Given the description of an element on the screen output the (x, y) to click on. 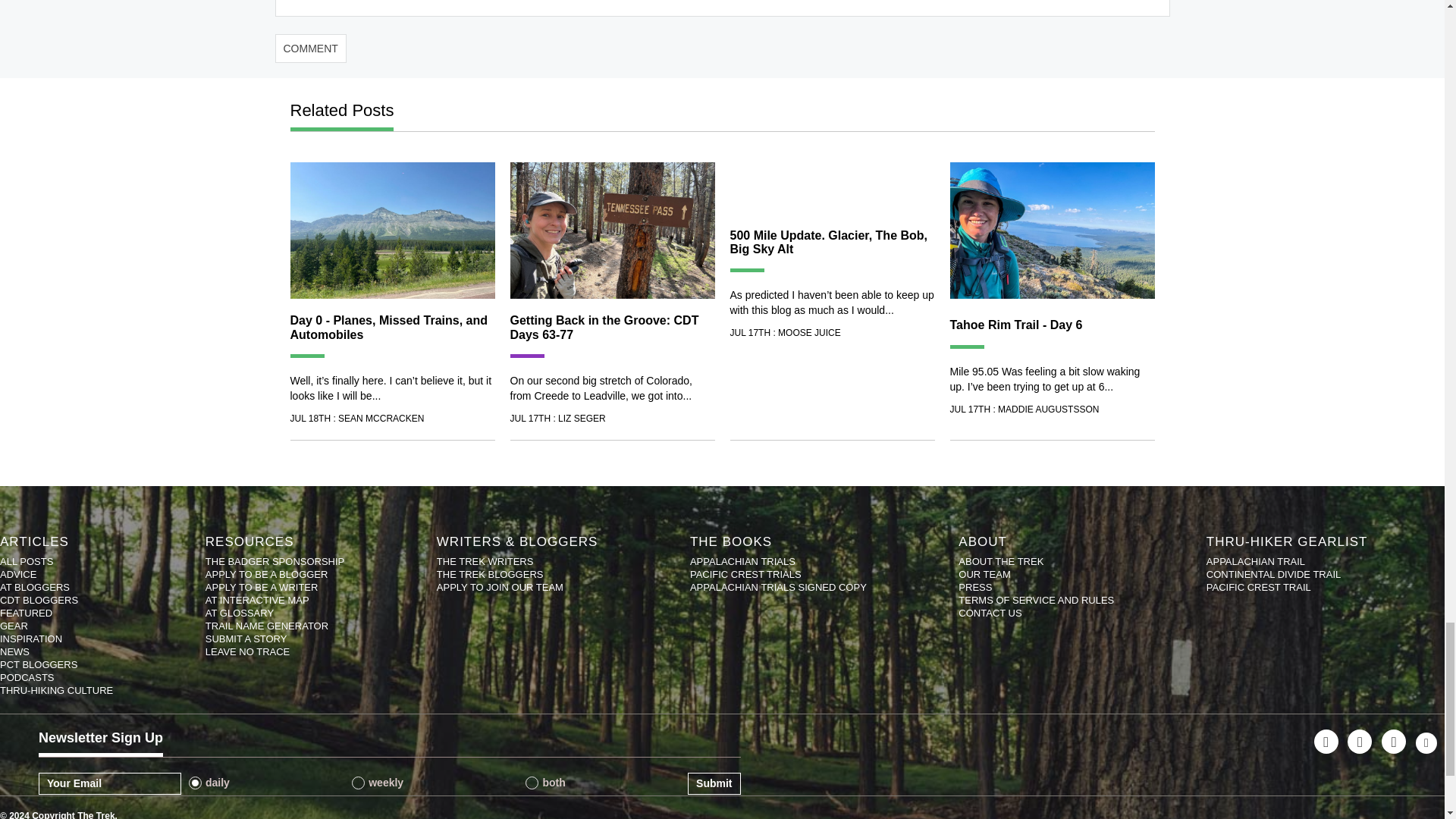
Sign Up (713, 783)
Comment (310, 48)
